Given the description of an element on the screen output the (x, y) to click on. 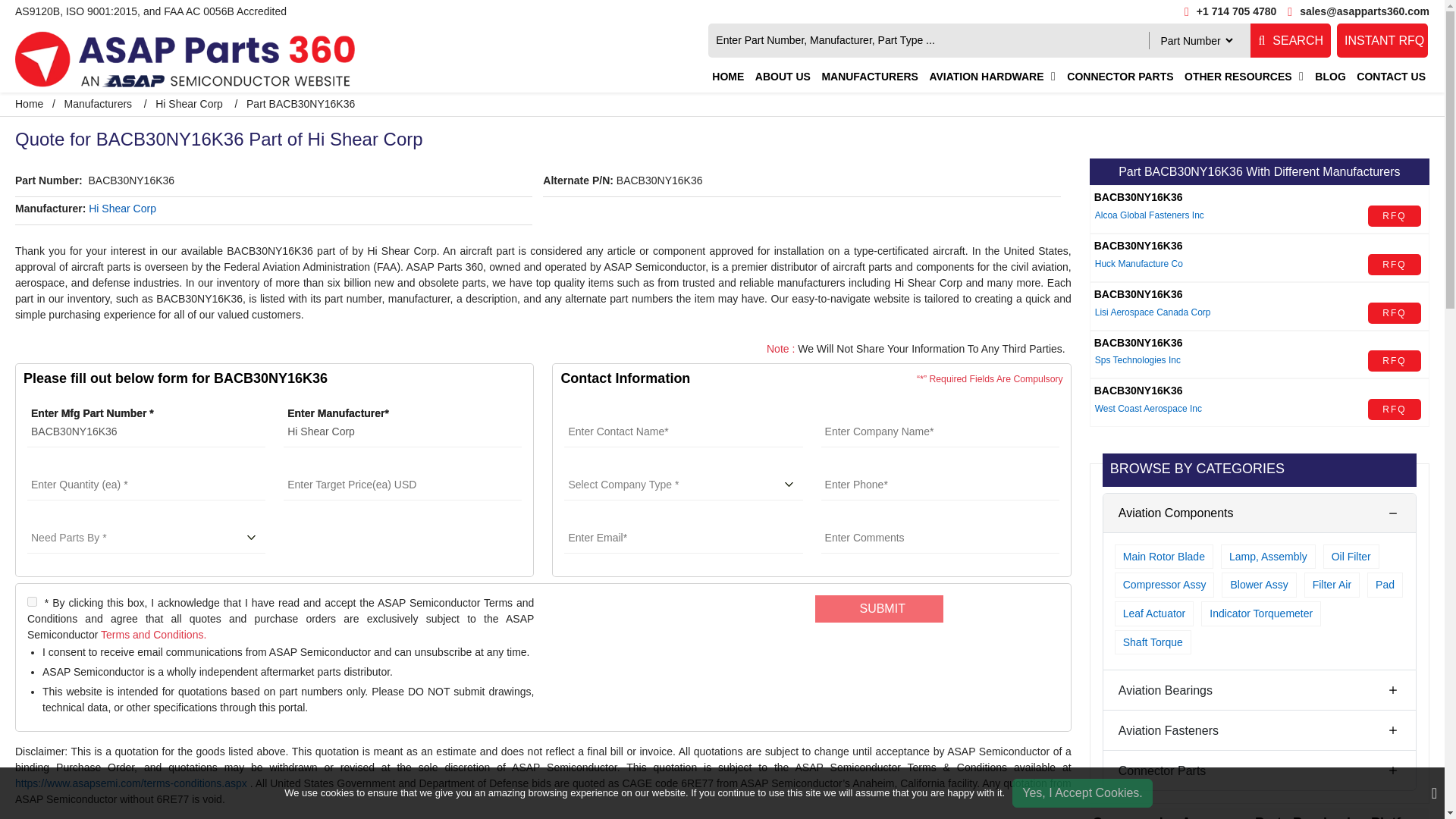
INSTANT RFQ (1382, 40)
Manufacturers (98, 103)
BACB30NY16K36 (145, 431)
Hi Shear Corp (188, 103)
AVIATION HARDWARE (985, 76)
CONNECTOR PARTS (1119, 76)
MANUFACTURERS (868, 76)
Home (28, 103)
Hi Shear Corp (402, 431)
HOME (727, 76)
  SUBMIT (879, 608)
OTHER RESOURCES (1237, 76)
CONTACT US (1390, 76)
on (32, 601)
BLOG (1330, 76)
